Given the description of an element on the screen output the (x, y) to click on. 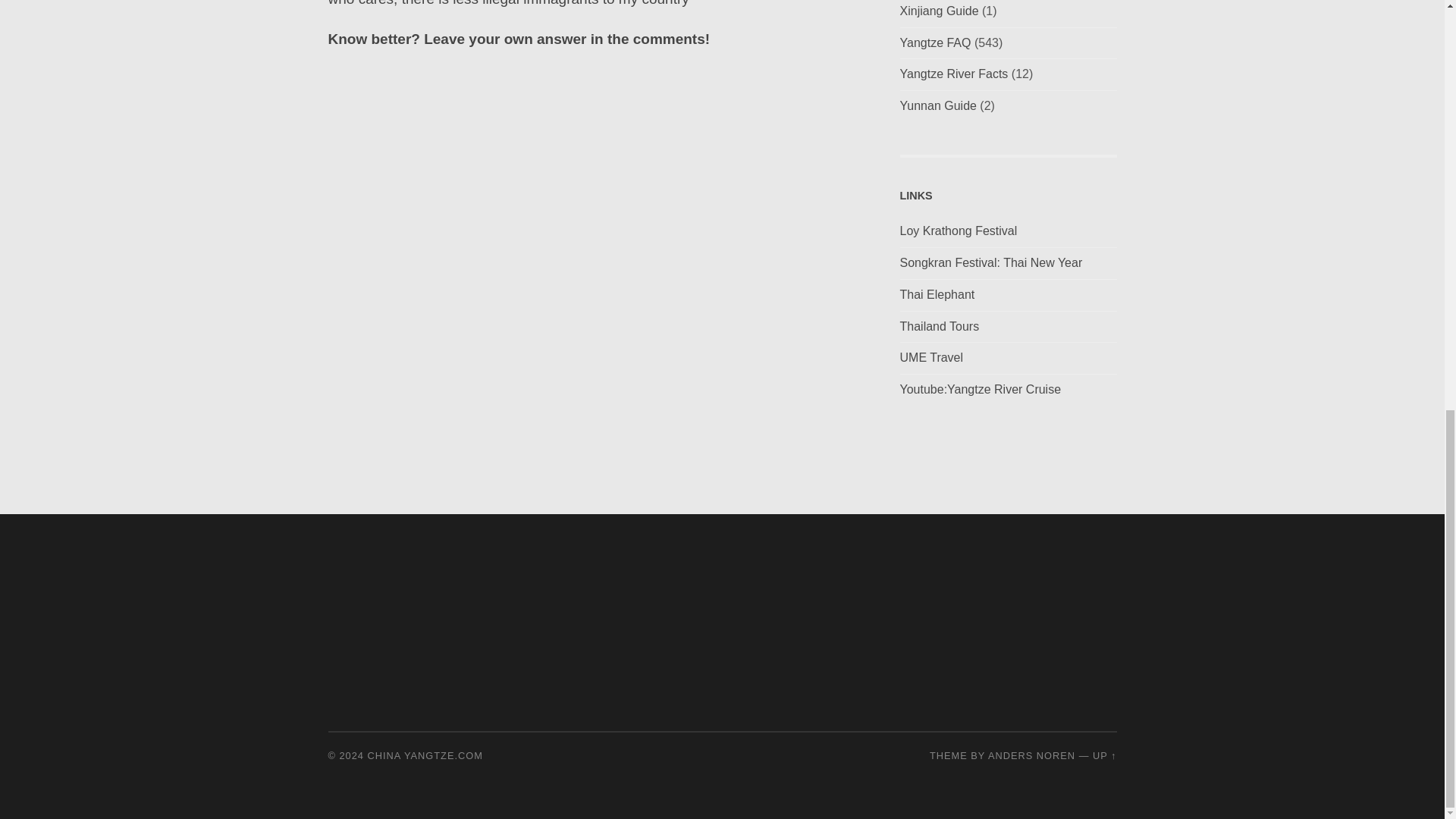
UME Travel (930, 357)
Yangtze FAQ (935, 42)
Songkran Festival: Thai New Year (990, 262)
Youtube:Yangtze River Cruise (980, 389)
Thailand Tours (938, 326)
To the top (1104, 755)
Xinjiang Guide (938, 10)
Yangtze River Facts (953, 73)
Thai Elephant (936, 294)
Loy Krathong Festival (957, 230)
Yunnan Guide (937, 105)
